Given the description of an element on the screen output the (x, y) to click on. 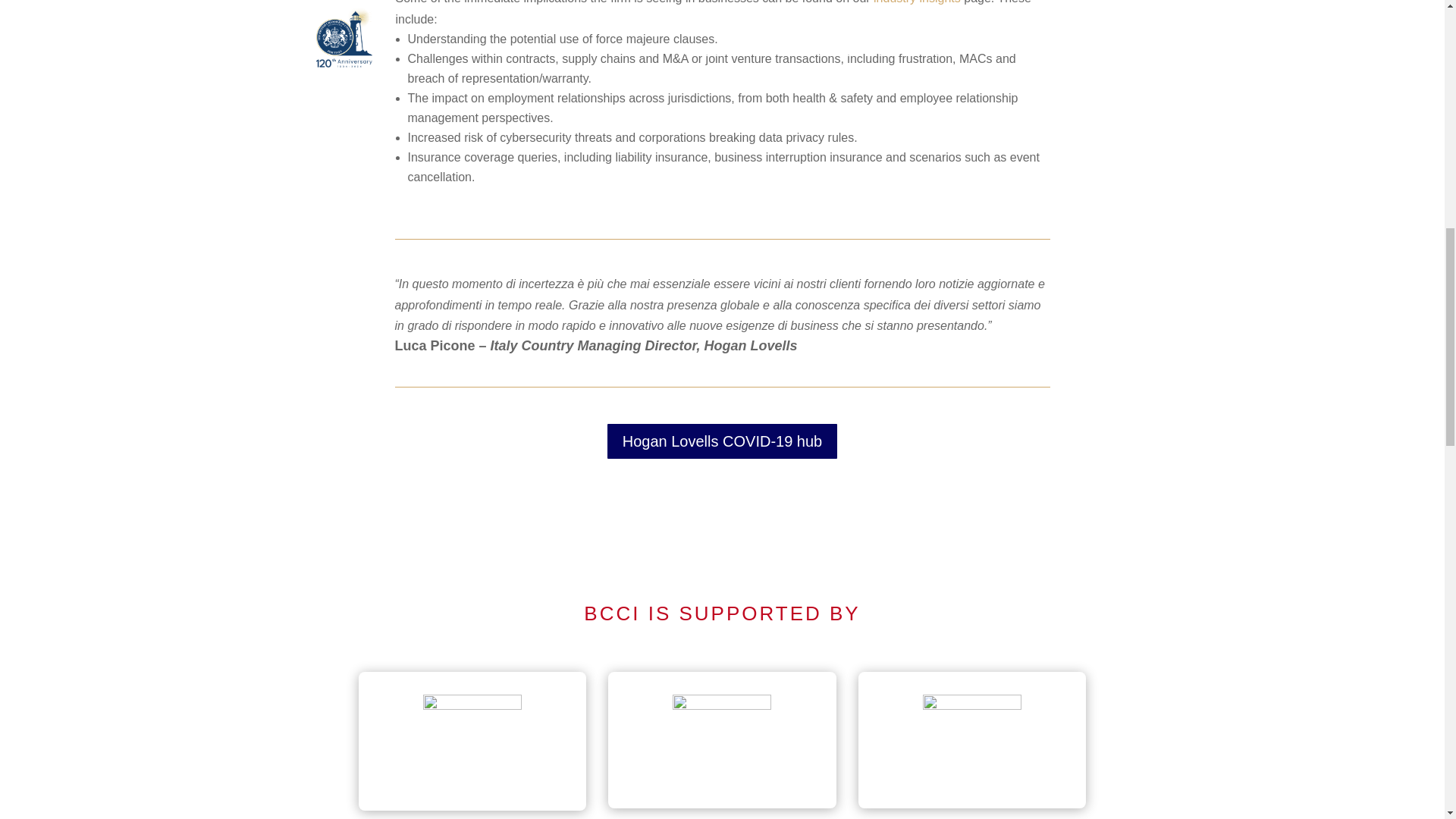
Hogan Lovells COVID-19 hub (721, 441)
CBRE.nuovo (721, 736)
industry insights (916, 2)
